Given the description of an element on the screen output the (x, y) to click on. 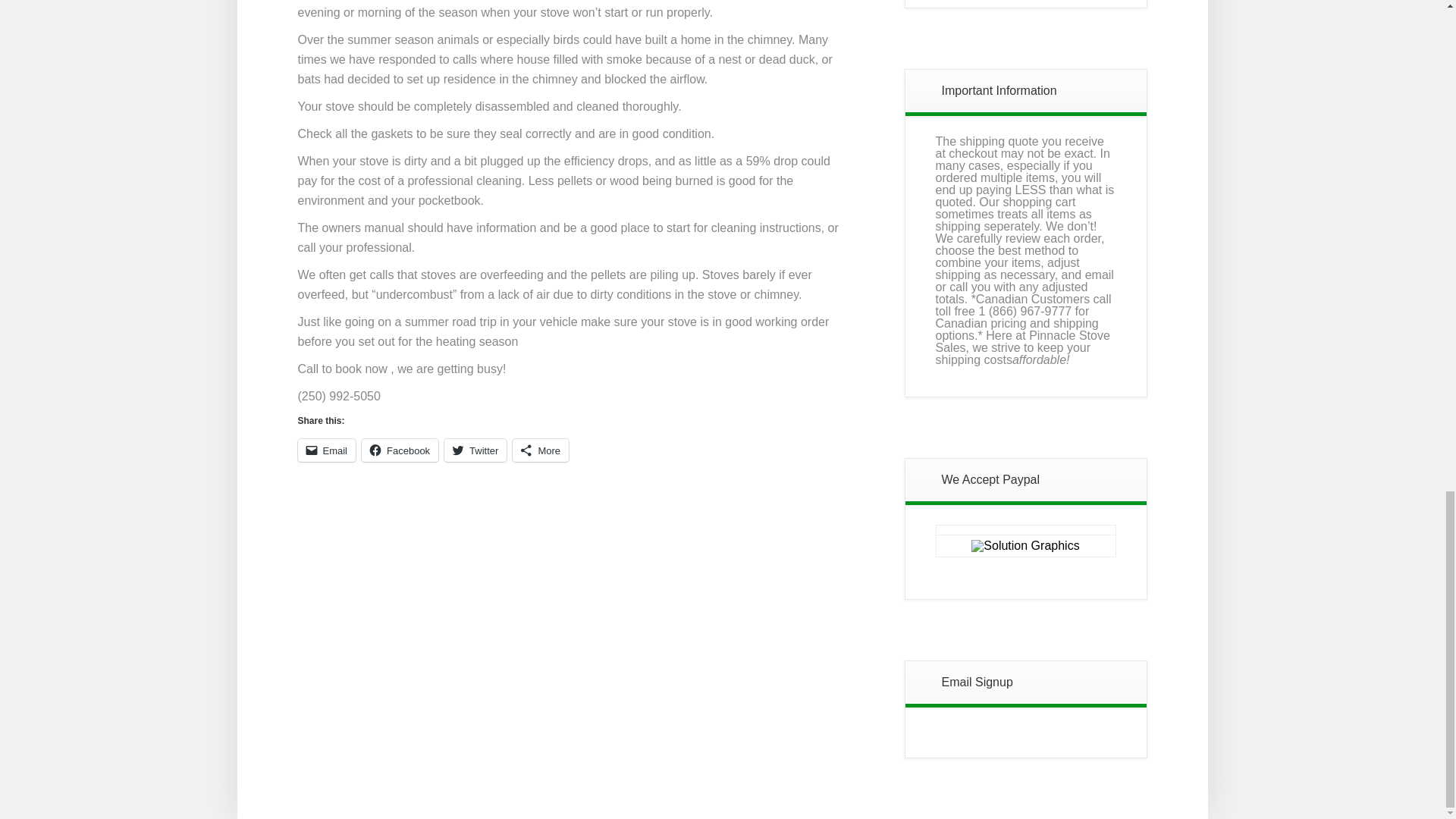
Facebook (399, 449)
Click to share on Facebook (399, 449)
Email (326, 449)
Click to email a link to a friend (326, 449)
Click to share on Twitter (475, 449)
More (540, 449)
Twitter (475, 449)
